Given the description of an element on the screen output the (x, y) to click on. 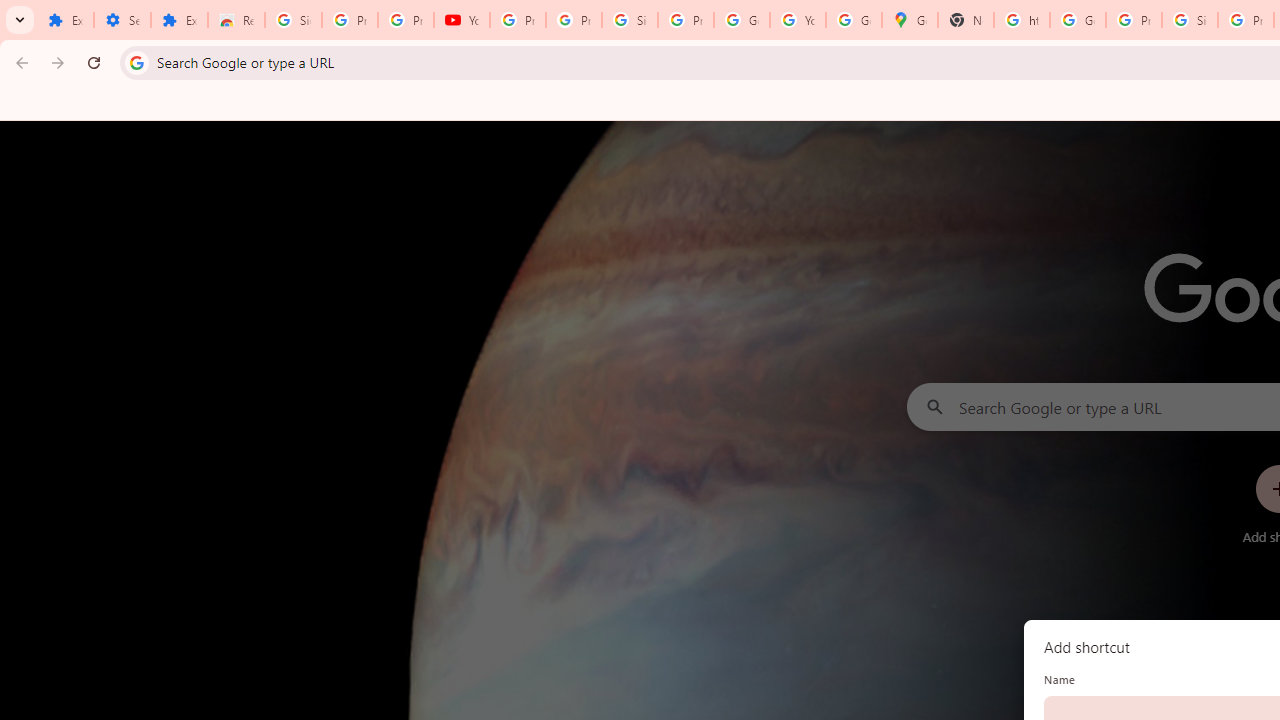
YouTube (461, 20)
New Tab (966, 20)
YouTube (797, 20)
